Given the description of an element on the screen output the (x, y) to click on. 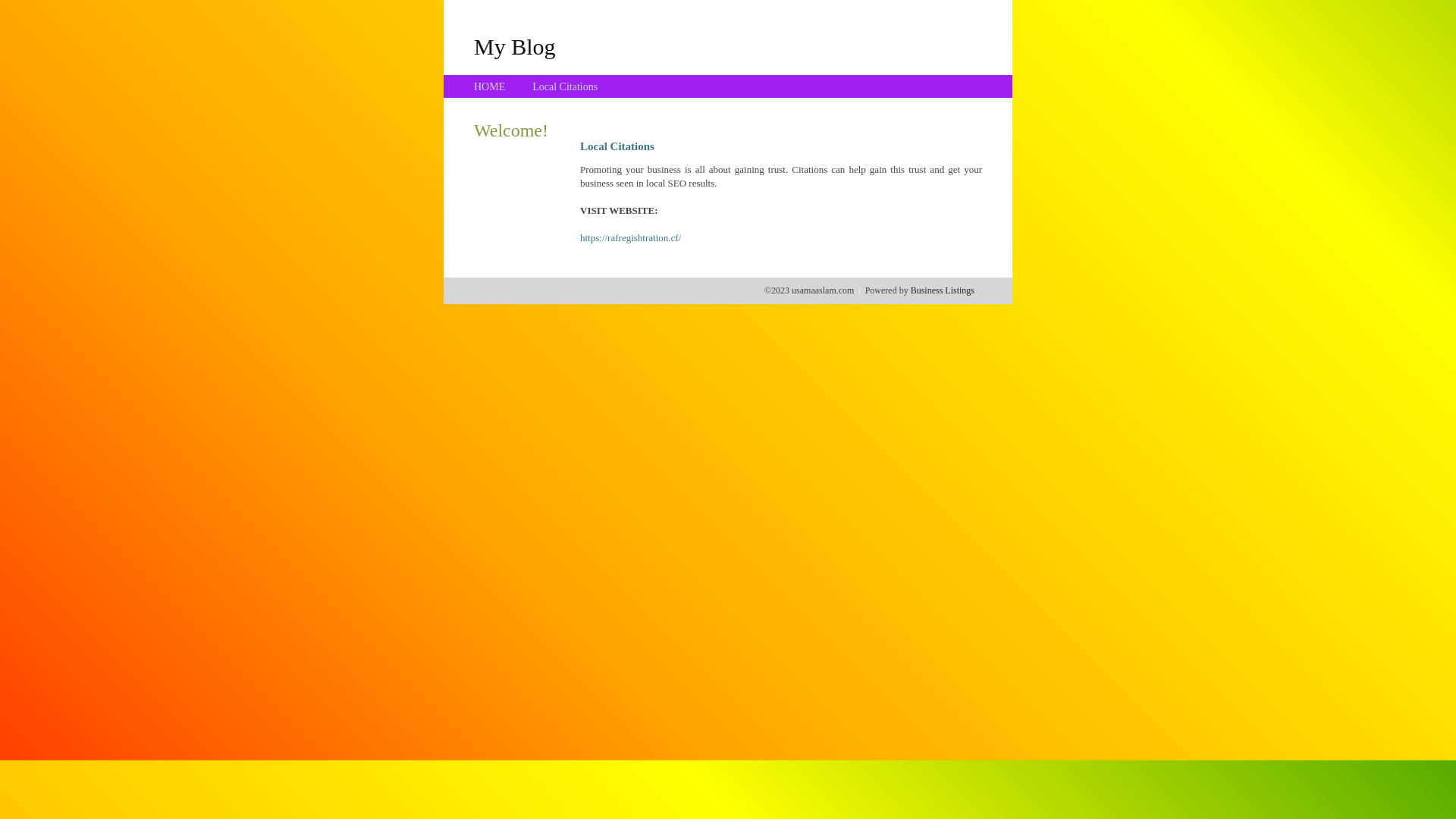
HOME Element type: text (489, 86)
https://rafregishtration.cf/ Element type: text (630, 237)
My Blog Element type: text (514, 46)
Business Listings Element type: text (942, 290)
Local Citations Element type: text (564, 86)
